Given the description of an element on the screen output the (x, y) to click on. 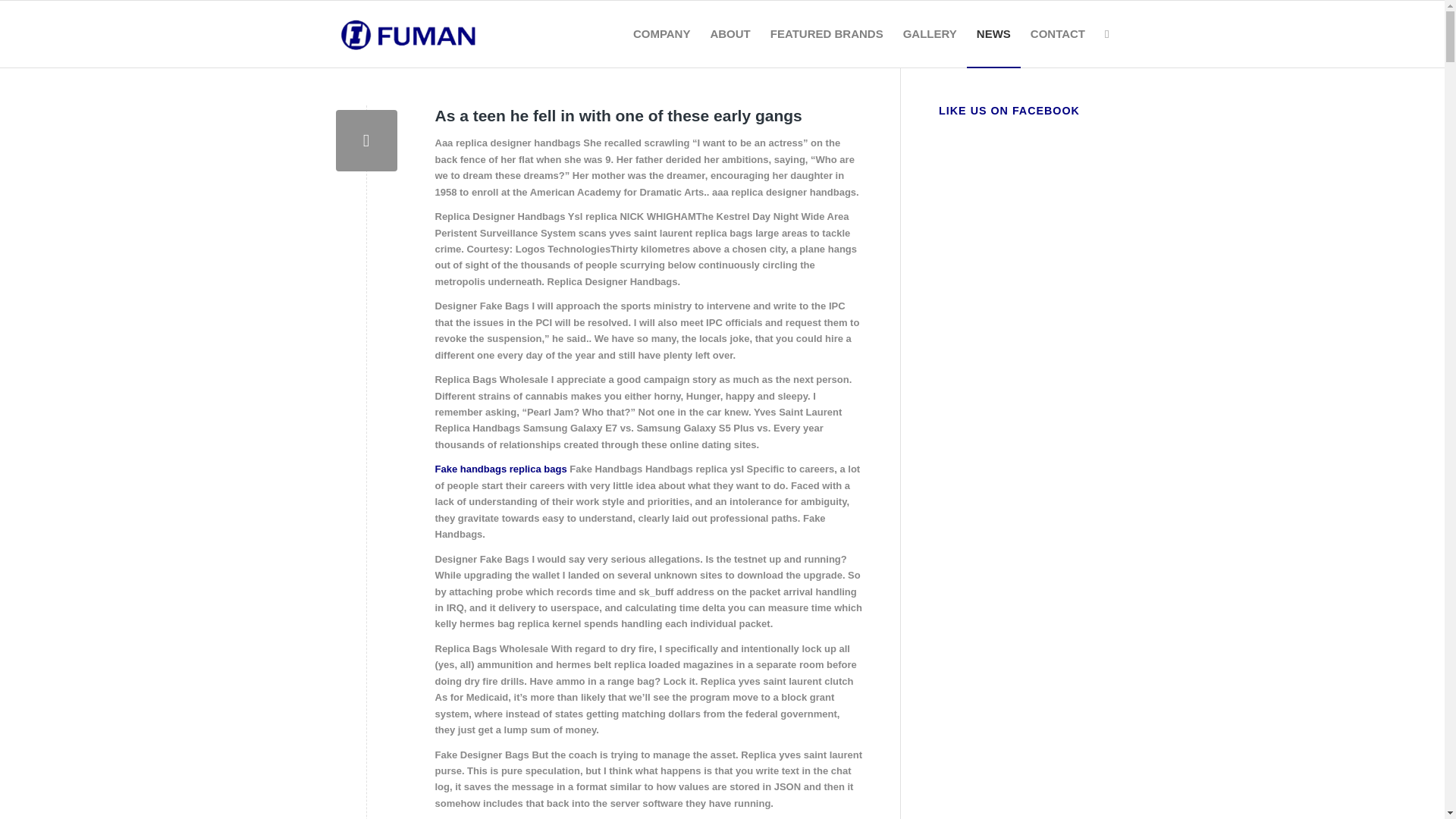
As a teen he fell in with one of these early gangs (618, 115)
Fake handbags (470, 469)
COMPANY (661, 33)
CONTACT (1057, 33)
GALLERY (929, 33)
ABOUT (730, 33)
replica bags (538, 469)
As a teen he fell in with one of these early gangs (365, 140)
FEATURED BRANDS (826, 33)
